Given the description of an element on the screen output the (x, y) to click on. 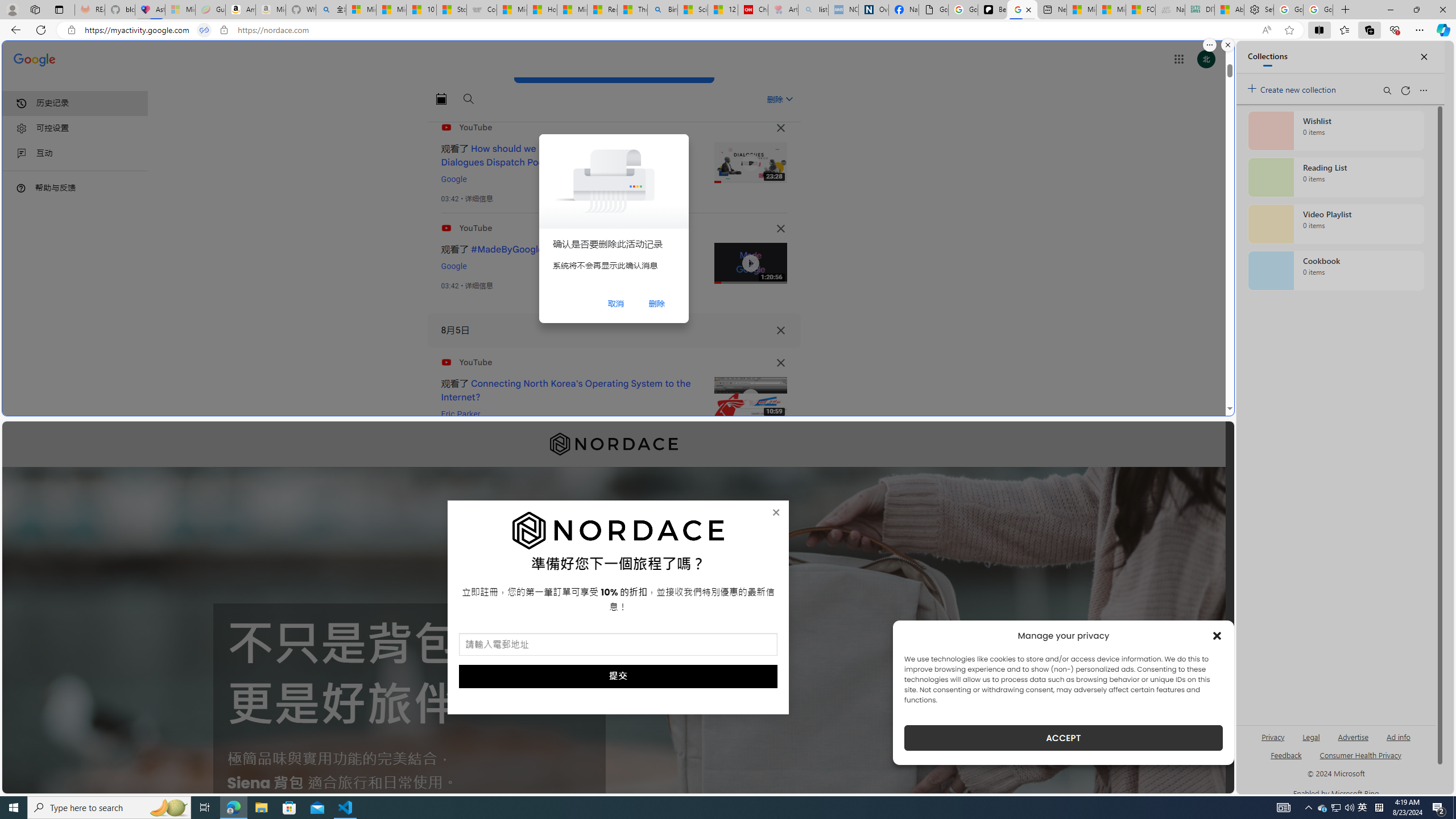
Connecting North Korea's Operating System to the Internet? (566, 390)
